Given the description of an element on the screen output the (x, y) to click on. 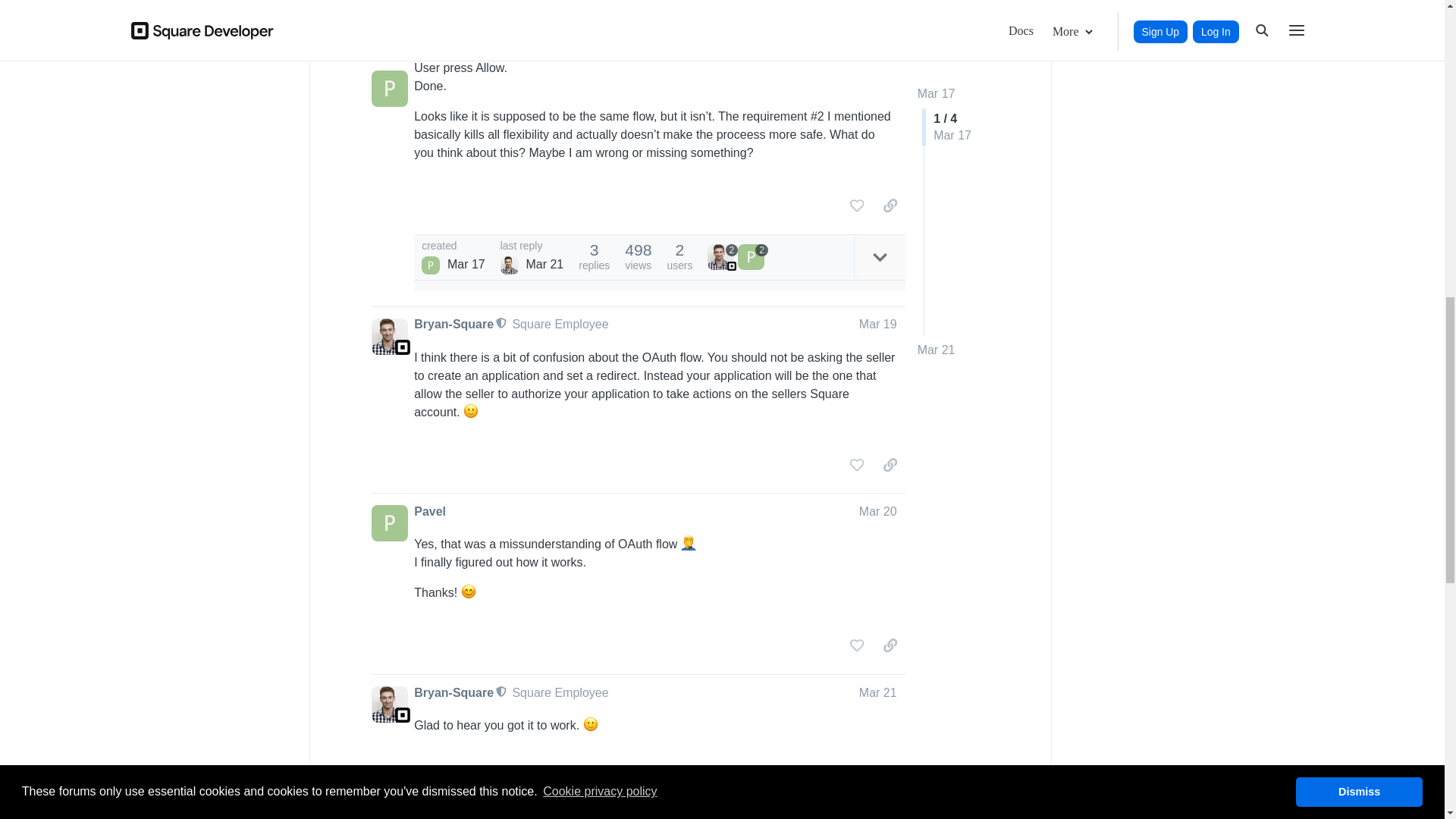
Mar 17, 2024 3:53 am (465, 264)
Square Employee (560, 323)
Bryan-Square (509, 265)
2 (722, 257)
last reply (532, 245)
Bryan-Square (453, 324)
Mar 21, 2024 12:11 am (544, 264)
2 (753, 257)
like this post (856, 205)
Pavel (430, 265)
expand topic details (879, 257)
copy a link to this post to clipboard (890, 205)
Mar 19 (877, 323)
